Given the description of an element on the screen output the (x, y) to click on. 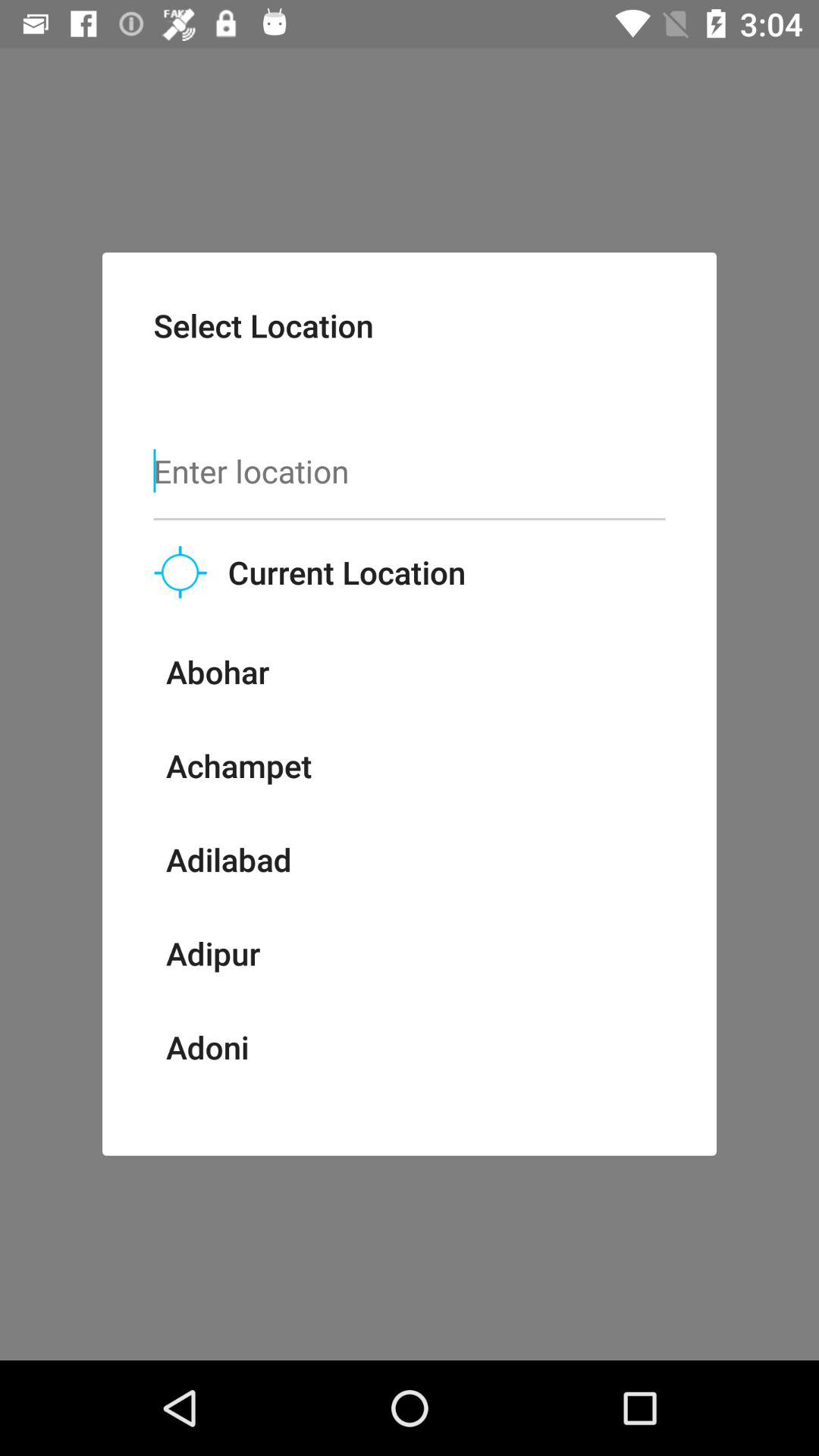
scroll until the adoni (207, 1046)
